Given the description of an element on the screen output the (x, y) to click on. 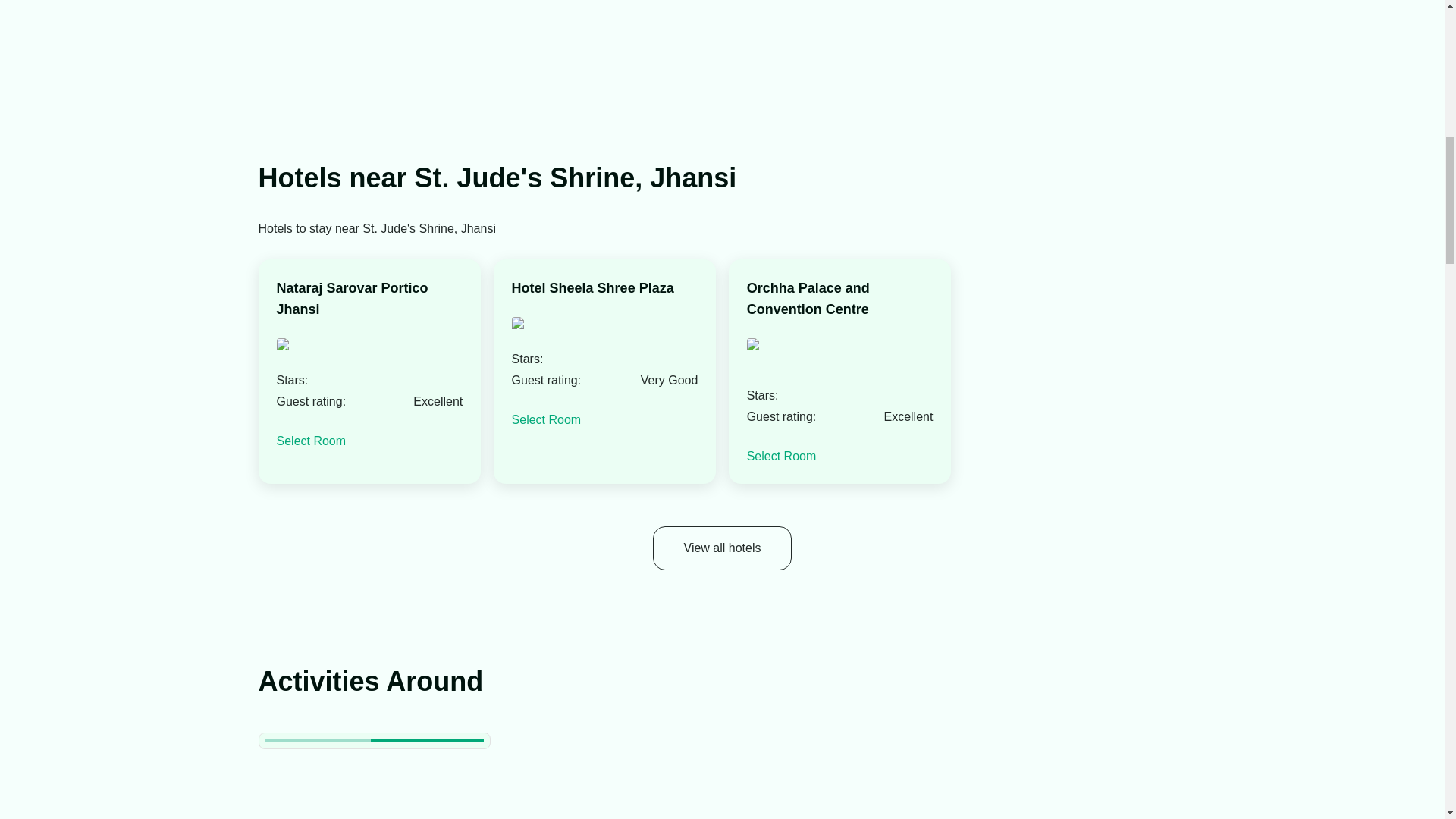
Nataraj Sarovar Portico Jhansi (369, 298)
Orchha Palace and Convention Centre (839, 298)
Select Room (311, 440)
Hotel Sheela Shree Plaza (593, 287)
Select Room (546, 419)
View all hotels (722, 548)
Select Room (781, 455)
